Given the description of an element on the screen output the (x, y) to click on. 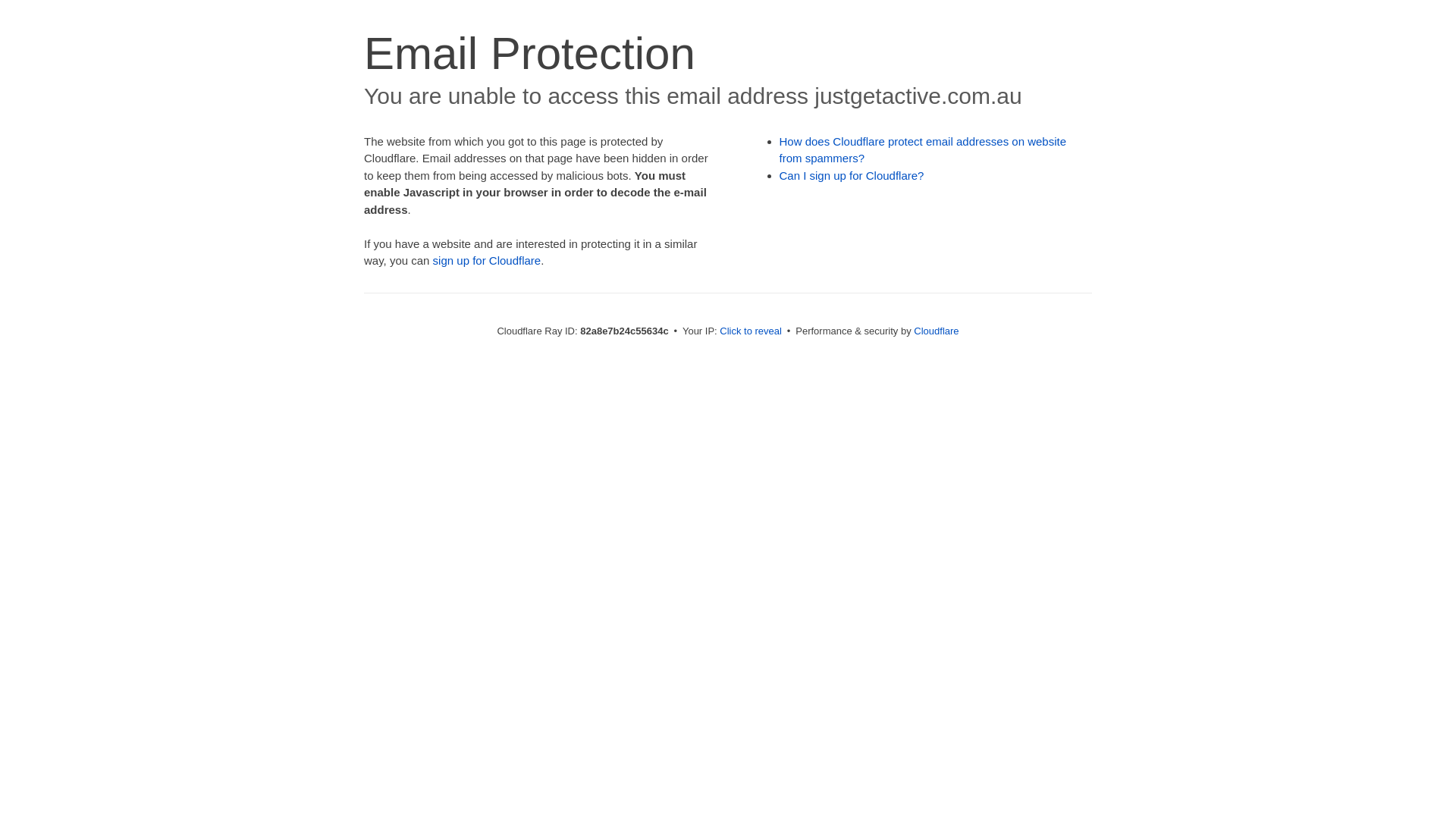
Cloudflare Element type: text (935, 330)
Can I sign up for Cloudflare? Element type: text (851, 175)
sign up for Cloudflare Element type: text (487, 260)
Click to reveal Element type: text (750, 330)
